Given the description of an element on the screen output the (x, y) to click on. 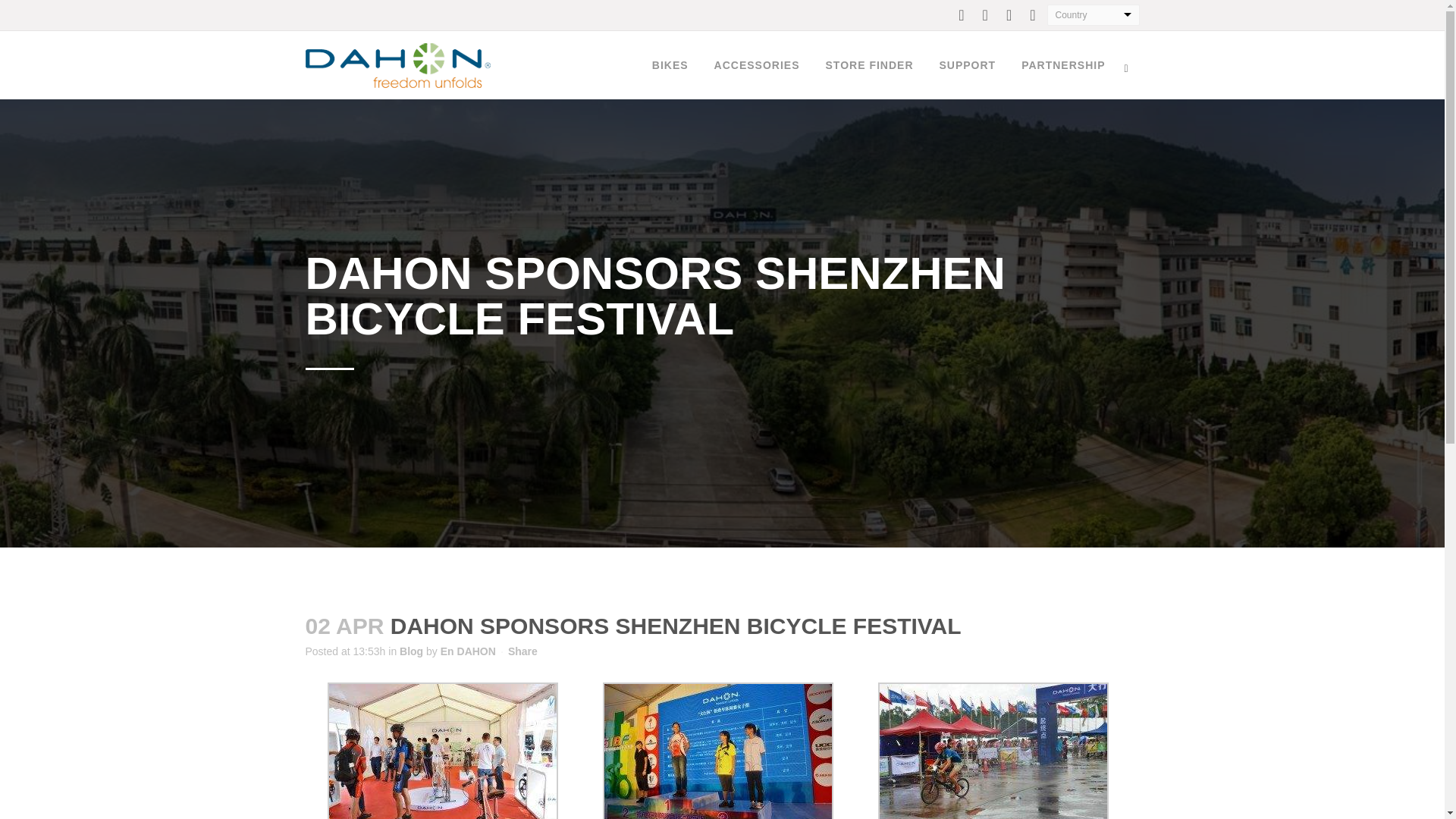
STORE FINDER (869, 65)
SUPPORT (967, 65)
PARTNERSHIP (1063, 65)
BIKES (670, 65)
ACCESSORIES (756, 65)
Country (1093, 14)
